Given the description of an element on the screen output the (x, y) to click on. 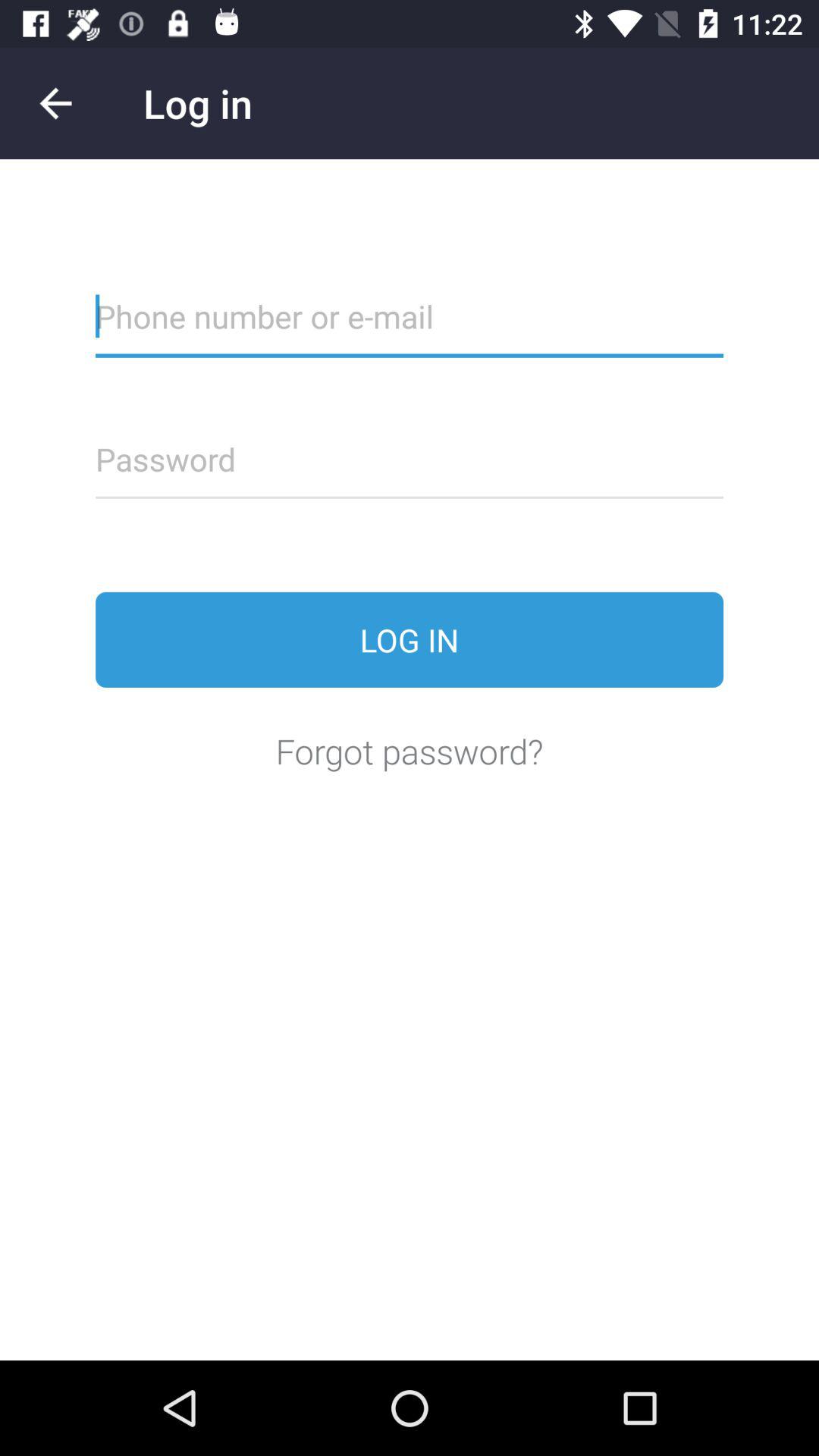
password box (409, 468)
